Given the description of an element on the screen output the (x, y) to click on. 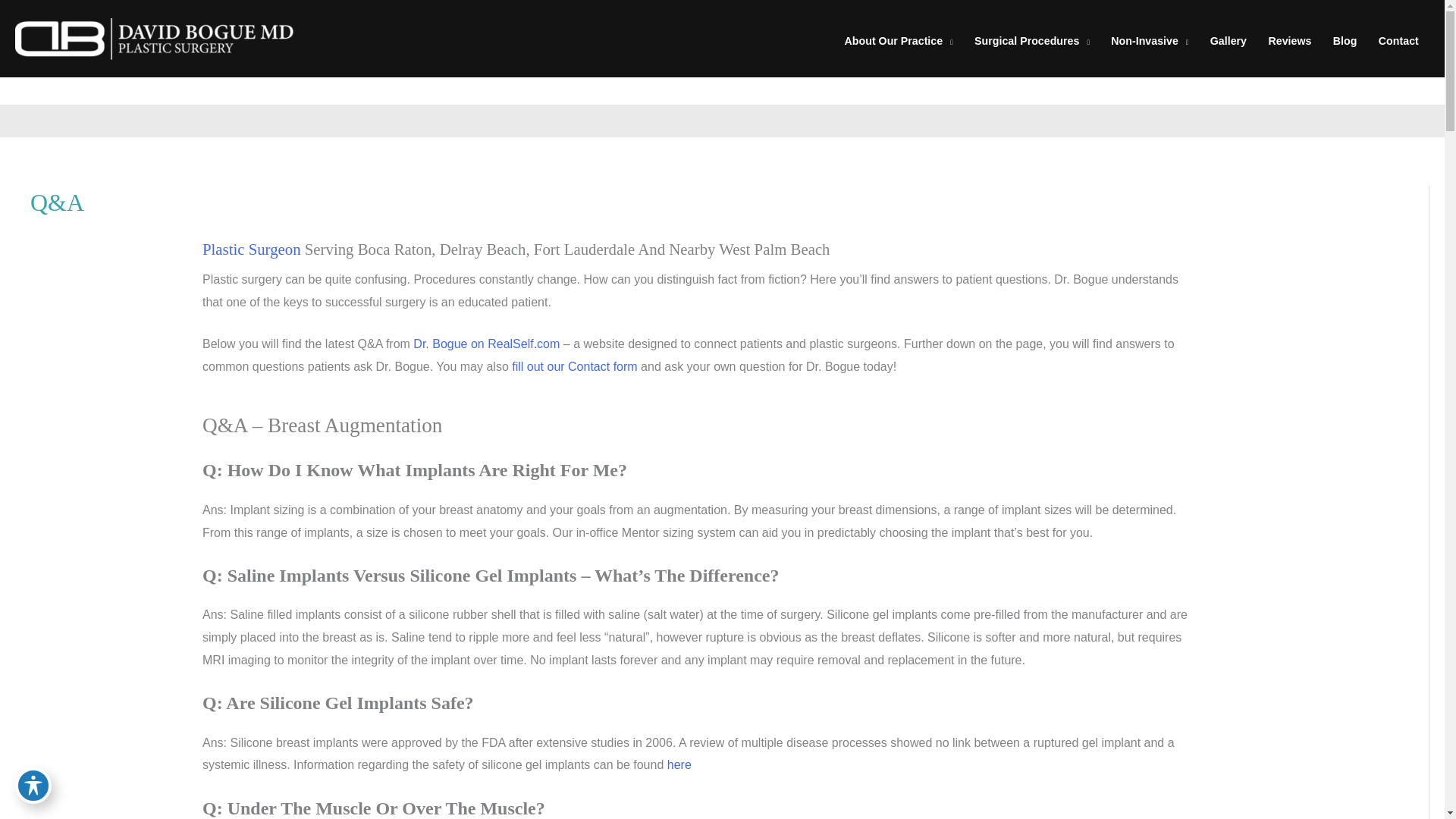
Contact Us (574, 366)
Blog (1345, 40)
About Our Practice (897, 40)
Gallery (1228, 40)
Contact (1398, 40)
Non-Invasive (1149, 40)
Link to fda.com website (678, 764)
Surgical Procedures (1031, 40)
Reviews (1289, 40)
